Given the description of an element on the screen output the (x, y) to click on. 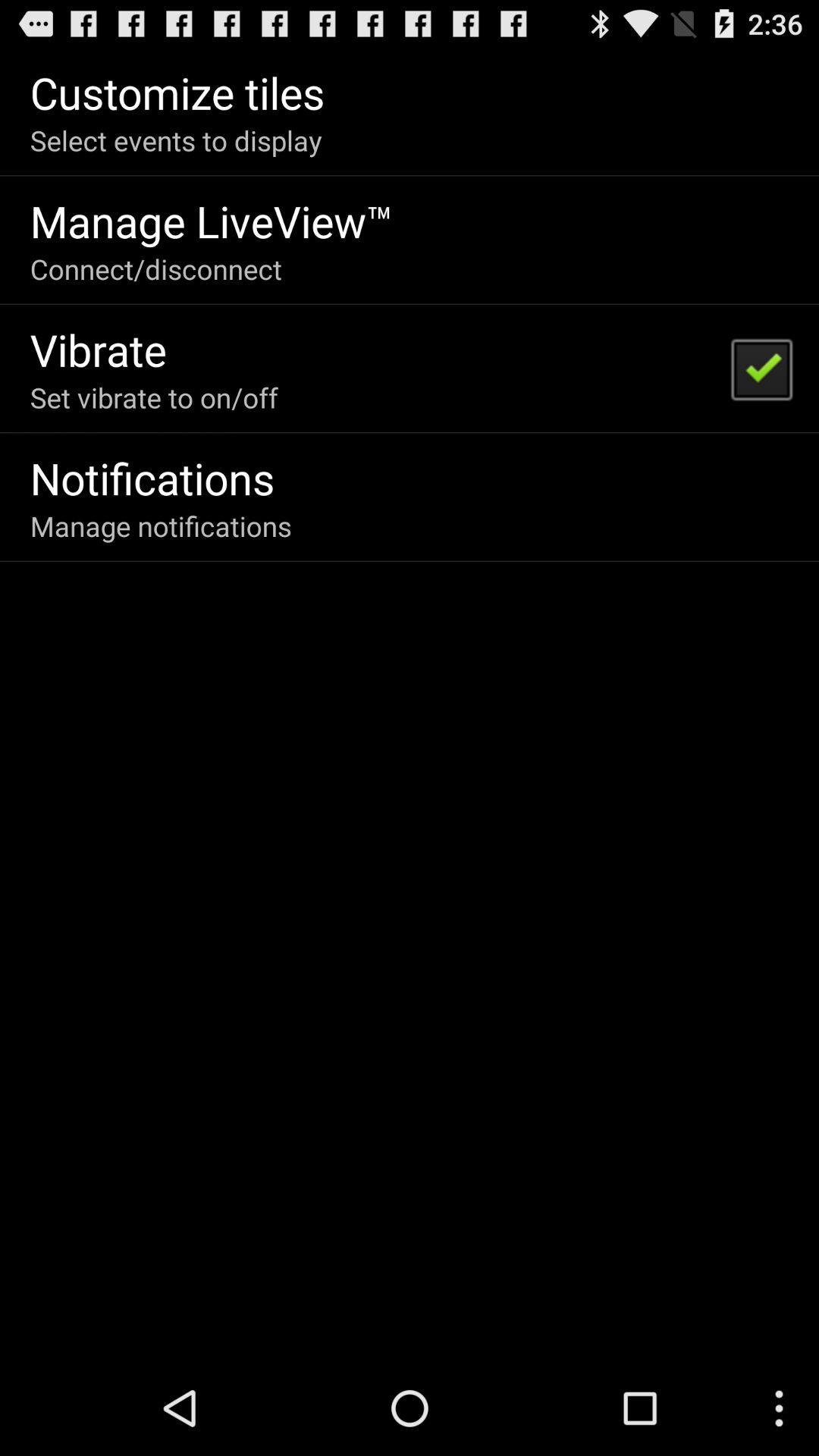
open the icon below the notifications app (160, 525)
